Given the description of an element on the screen output the (x, y) to click on. 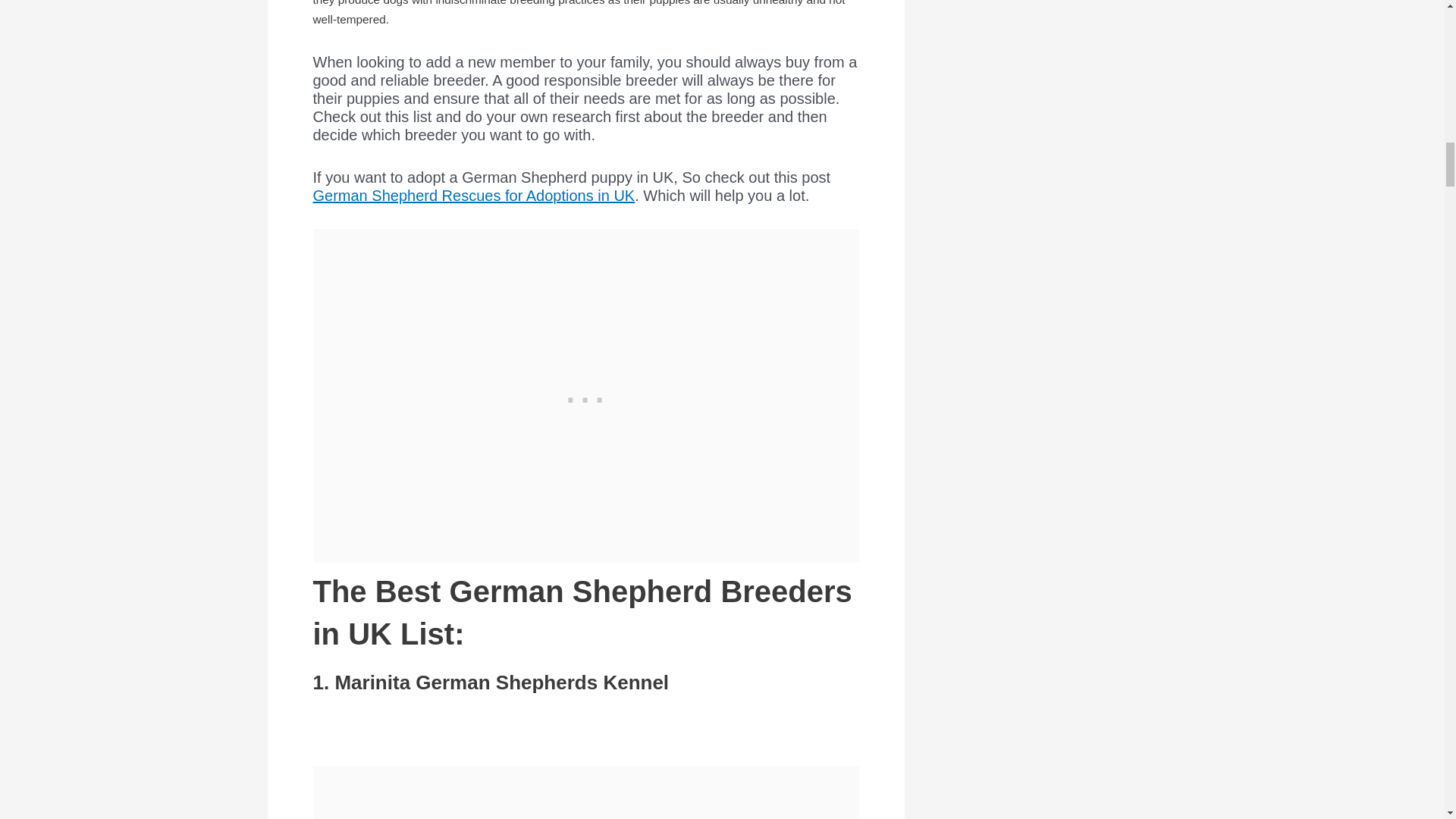
German Shepherd Rescues for Adoptions in UK (473, 195)
